Given the description of an element on the screen output the (x, y) to click on. 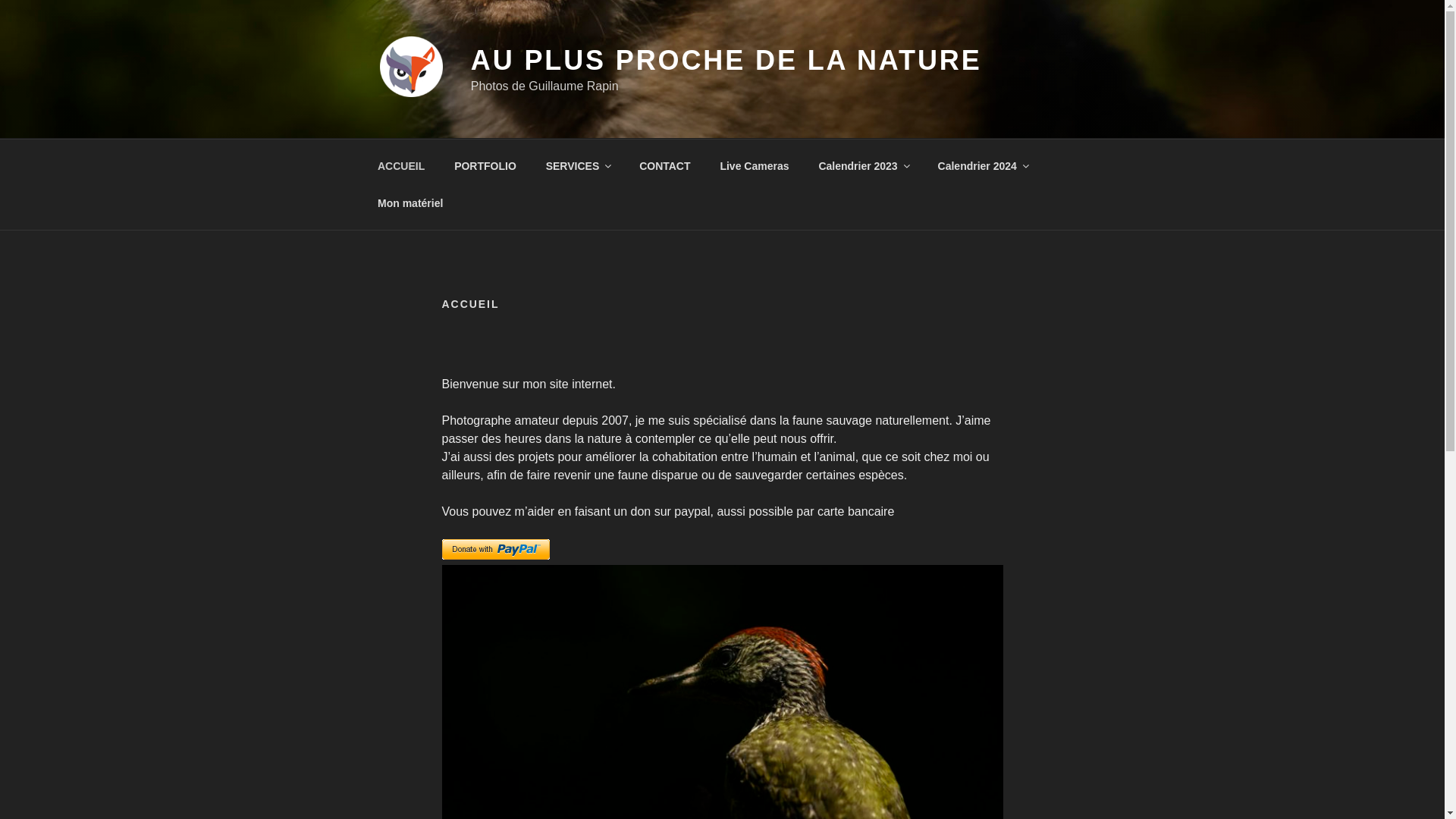
AU PLUS PROCHE DE LA NATURE Element type: text (726, 59)
CONTACT Element type: text (664, 165)
Live Cameras Element type: text (754, 165)
Calendrier 2023 Element type: text (863, 165)
Calendrier 2024 Element type: text (982, 165)
ACCUEIL Element type: text (400, 165)
SERVICES Element type: text (577, 165)
PORTFOLIO Element type: text (485, 165)
